Given the description of an element on the screen output the (x, y) to click on. 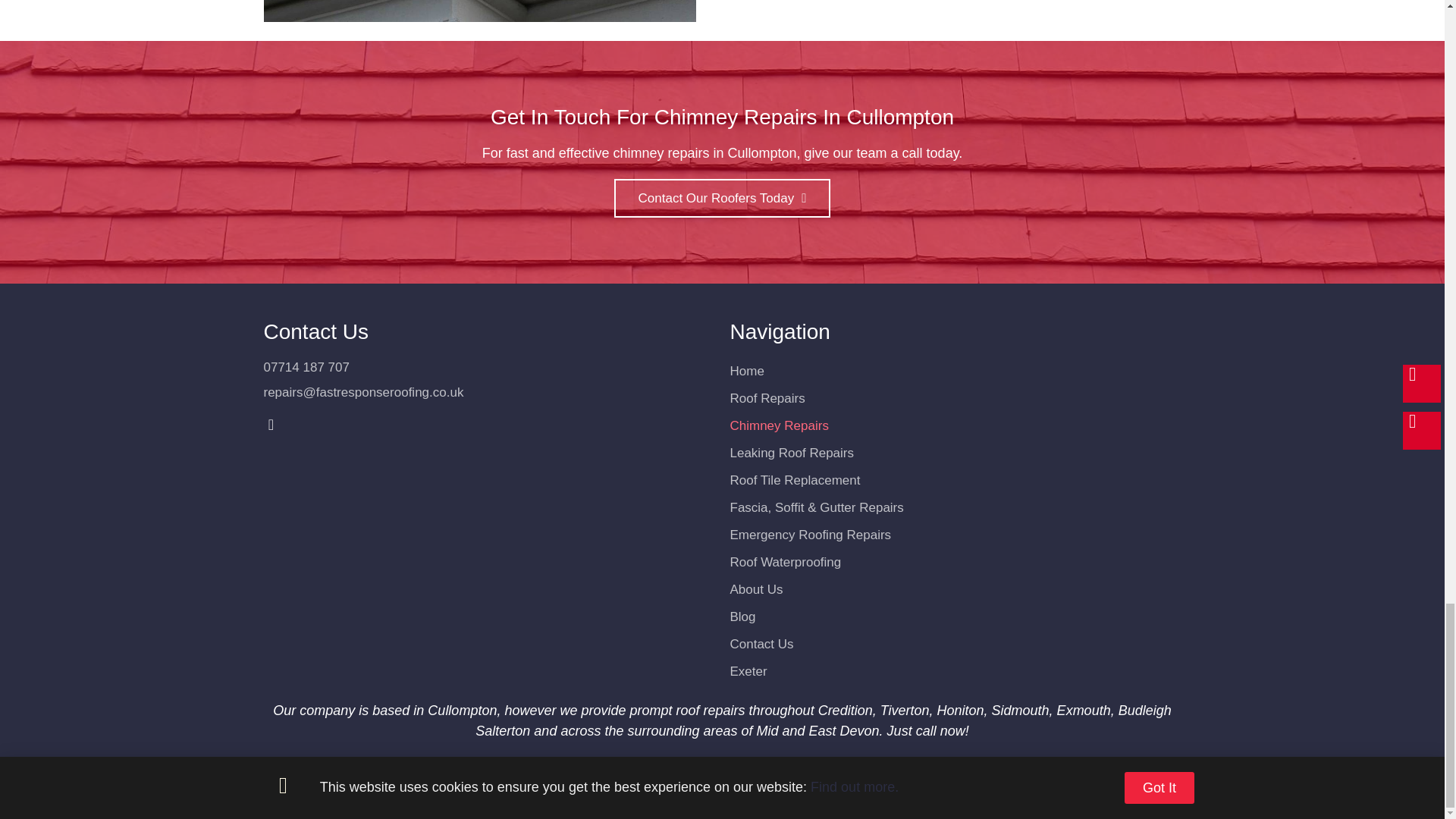
07714 187 707 (488, 367)
Contact Our Roofers Today (722, 198)
Chimney Repairs (954, 425)
Emergency Roofing Repairs (954, 534)
Roof Tile Replacement (954, 480)
Home (954, 370)
Leaking Roof Repairs (954, 452)
Roof Repairs (954, 398)
